Given the description of an element on the screen output the (x, y) to click on. 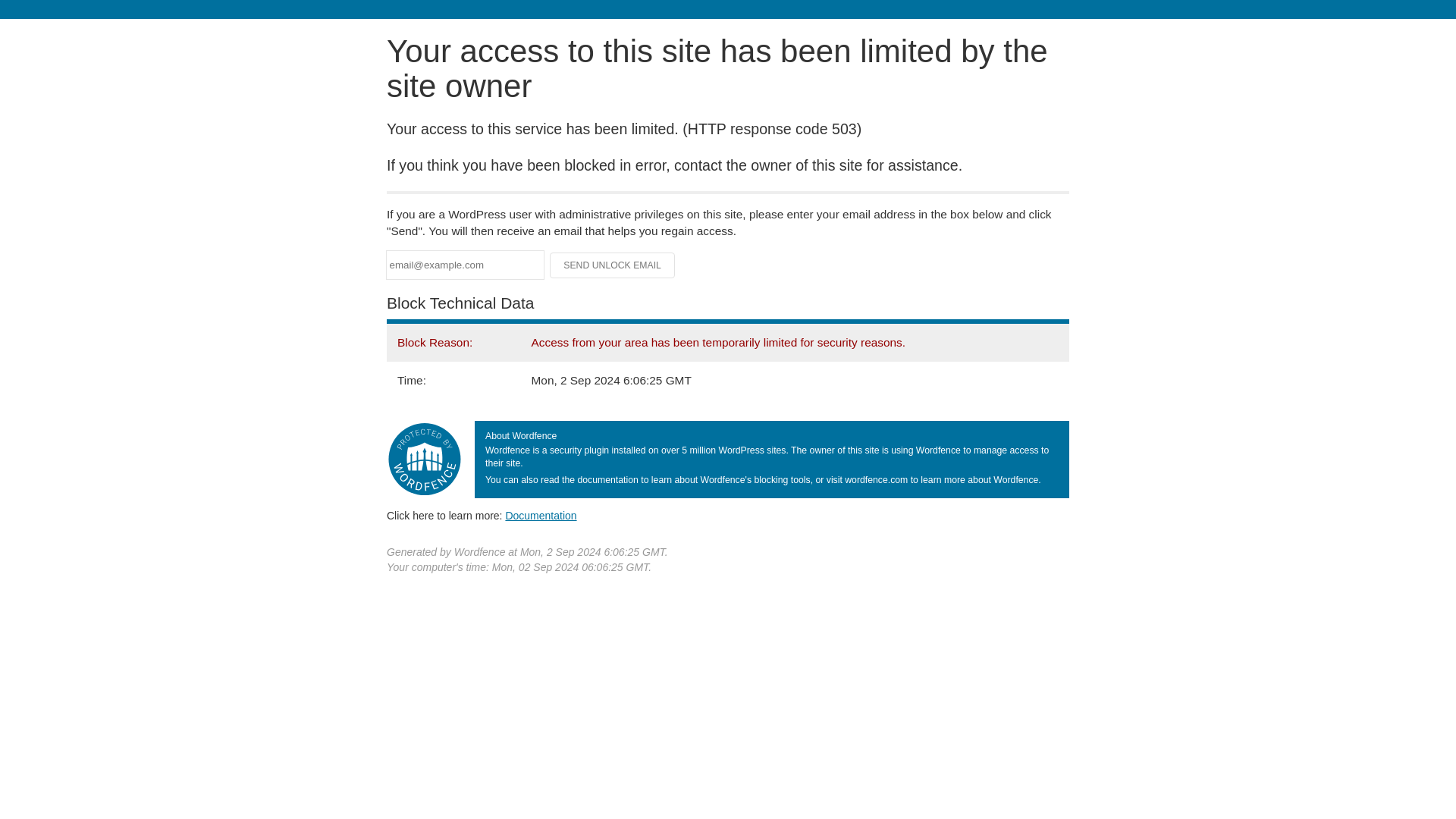
Send Unlock Email (612, 265)
Documentation (540, 515)
Send Unlock Email (612, 265)
